Given the description of an element on the screen output the (x, y) to click on. 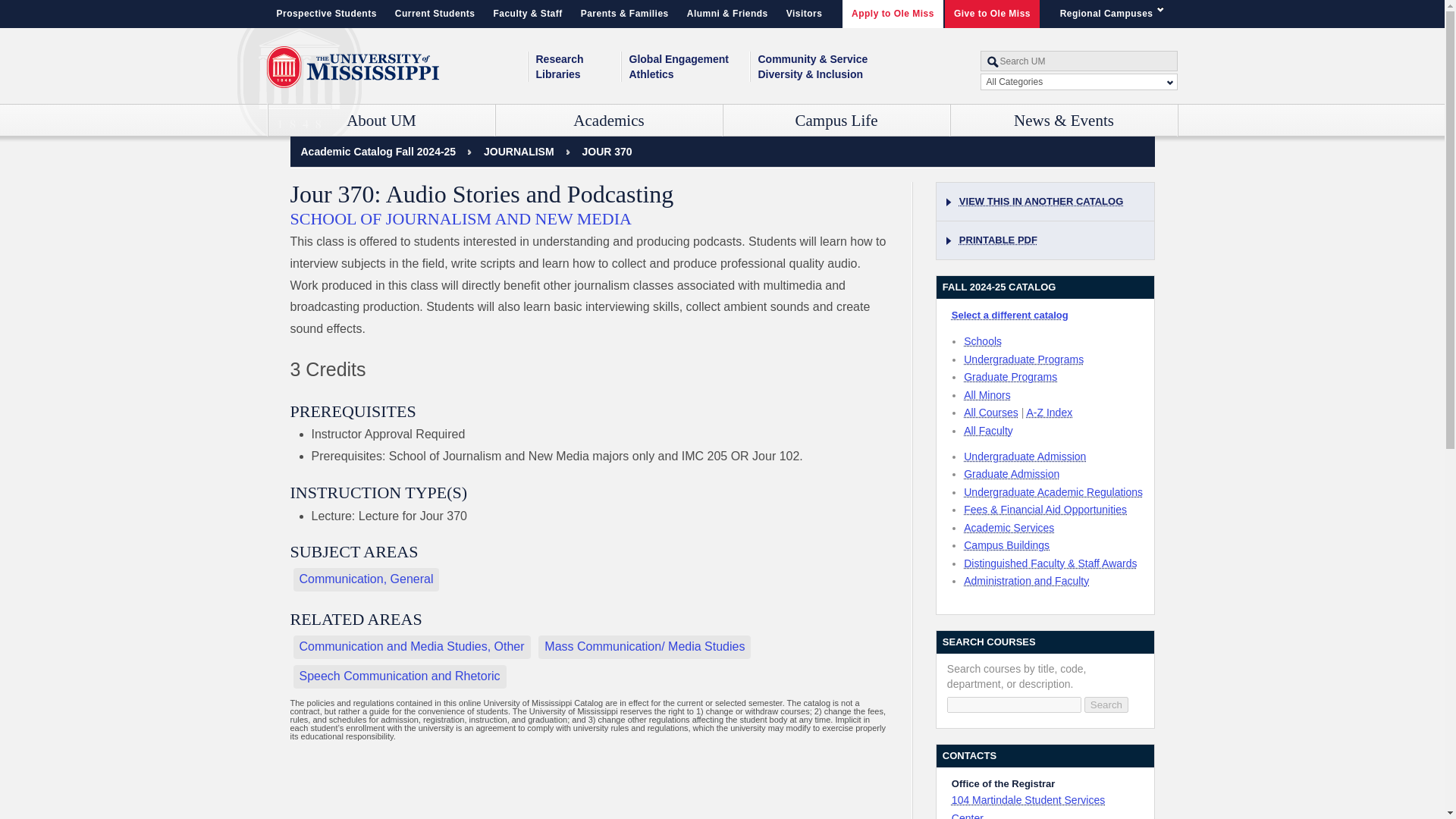
Athletics (688, 73)
Apply to Ole Miss (893, 13)
Search (1106, 704)
About UM (381, 120)
Audio Stories and Podcasting (606, 151)
Catalog home page (377, 151)
Academics (609, 120)
Regional Campuses (1114, 13)
Prospective Students (325, 13)
Search UM for anything... (1077, 60)
Campus Life (836, 120)
Give to Ole Miss (991, 13)
Libraries (577, 73)
Visitors (804, 13)
Current Students (434, 13)
